Given the description of an element on the screen output the (x, y) to click on. 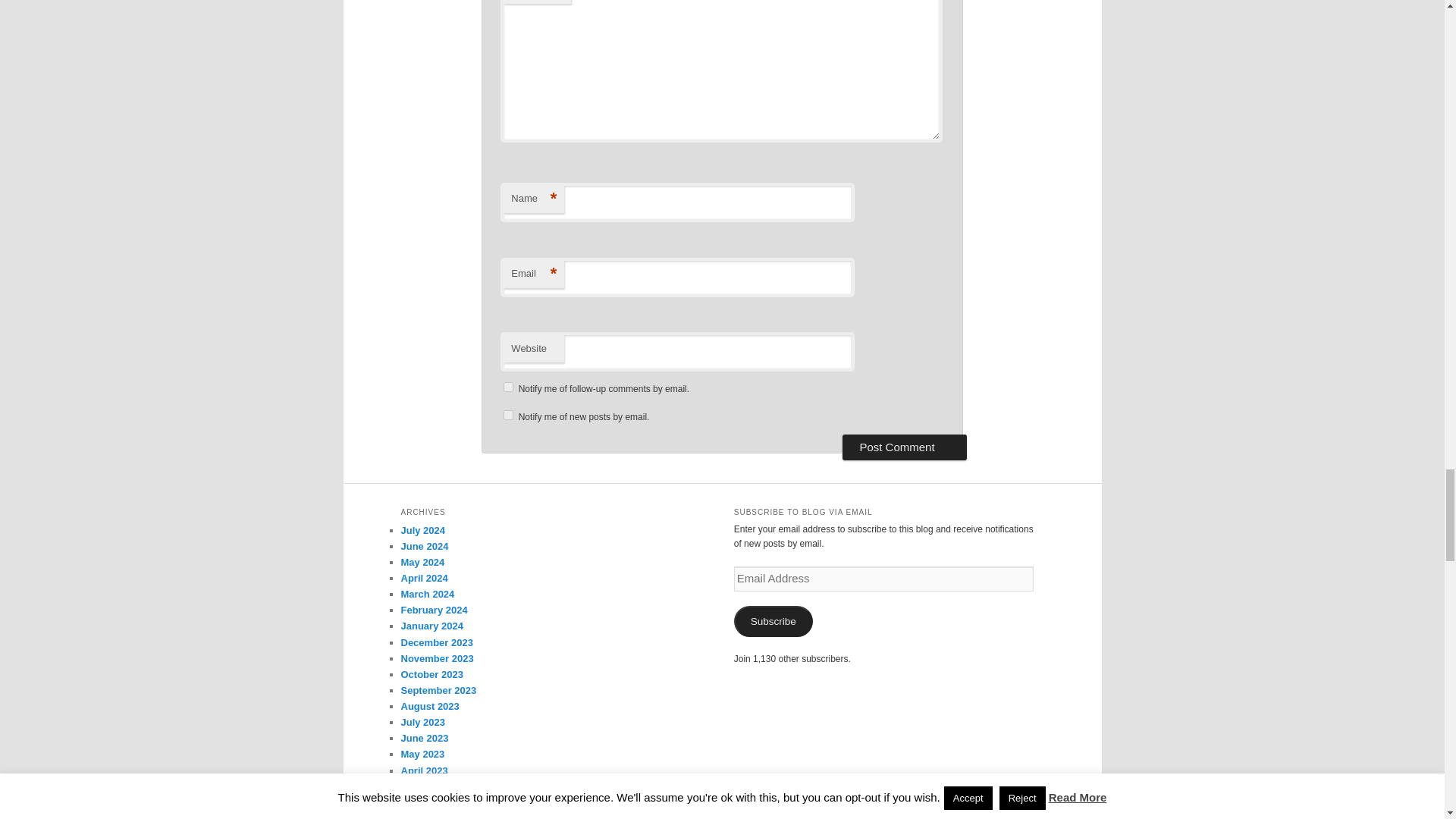
subscribe (508, 387)
subscribe (508, 415)
Post Comment (904, 447)
